Given the description of an element on the screen output the (x, y) to click on. 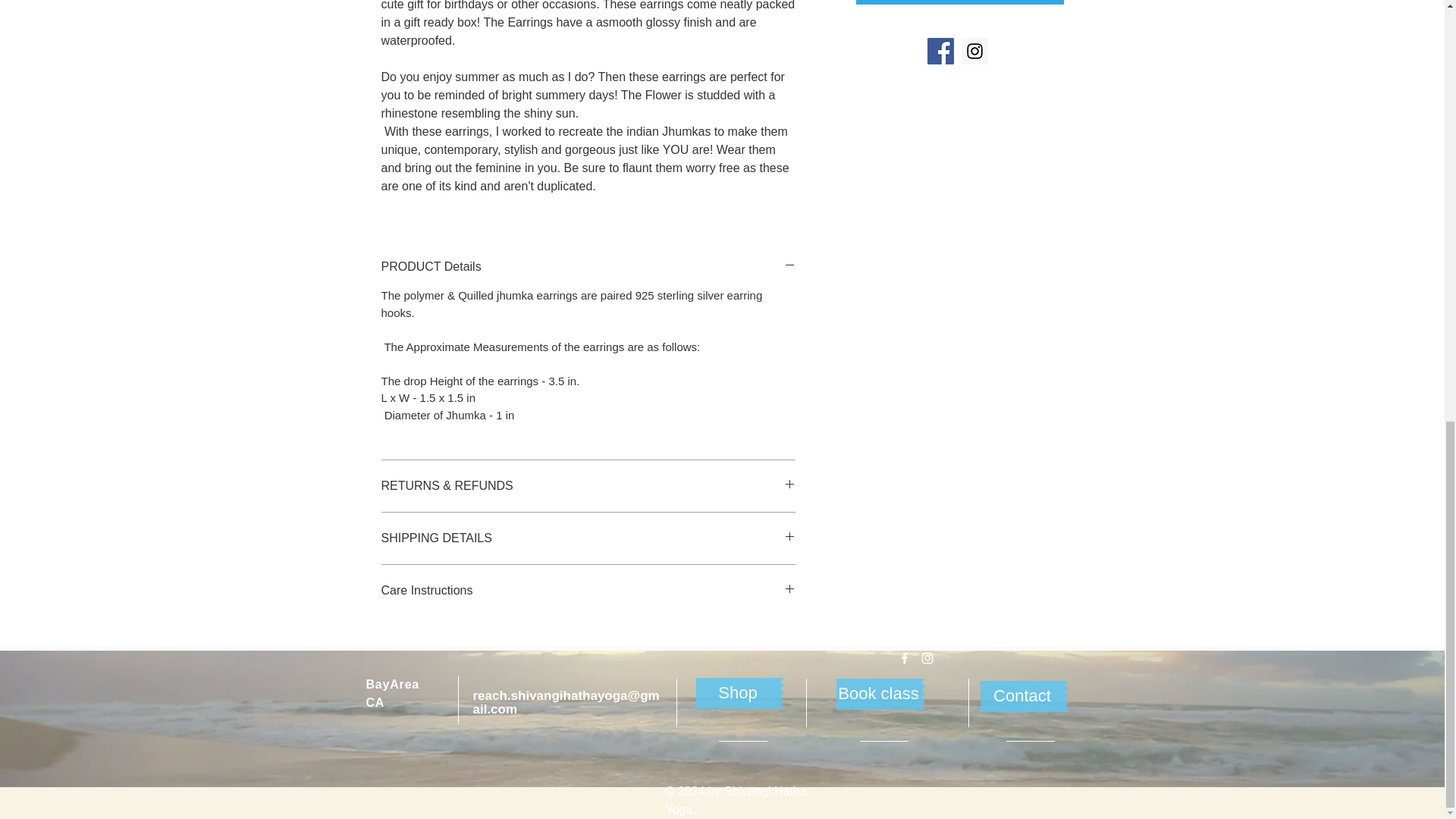
PRODUCT Details (587, 266)
Care Instructions (587, 590)
Add to Cart (959, 2)
SHIPPING DETAILS (587, 538)
